Given the description of an element on the screen output the (x, y) to click on. 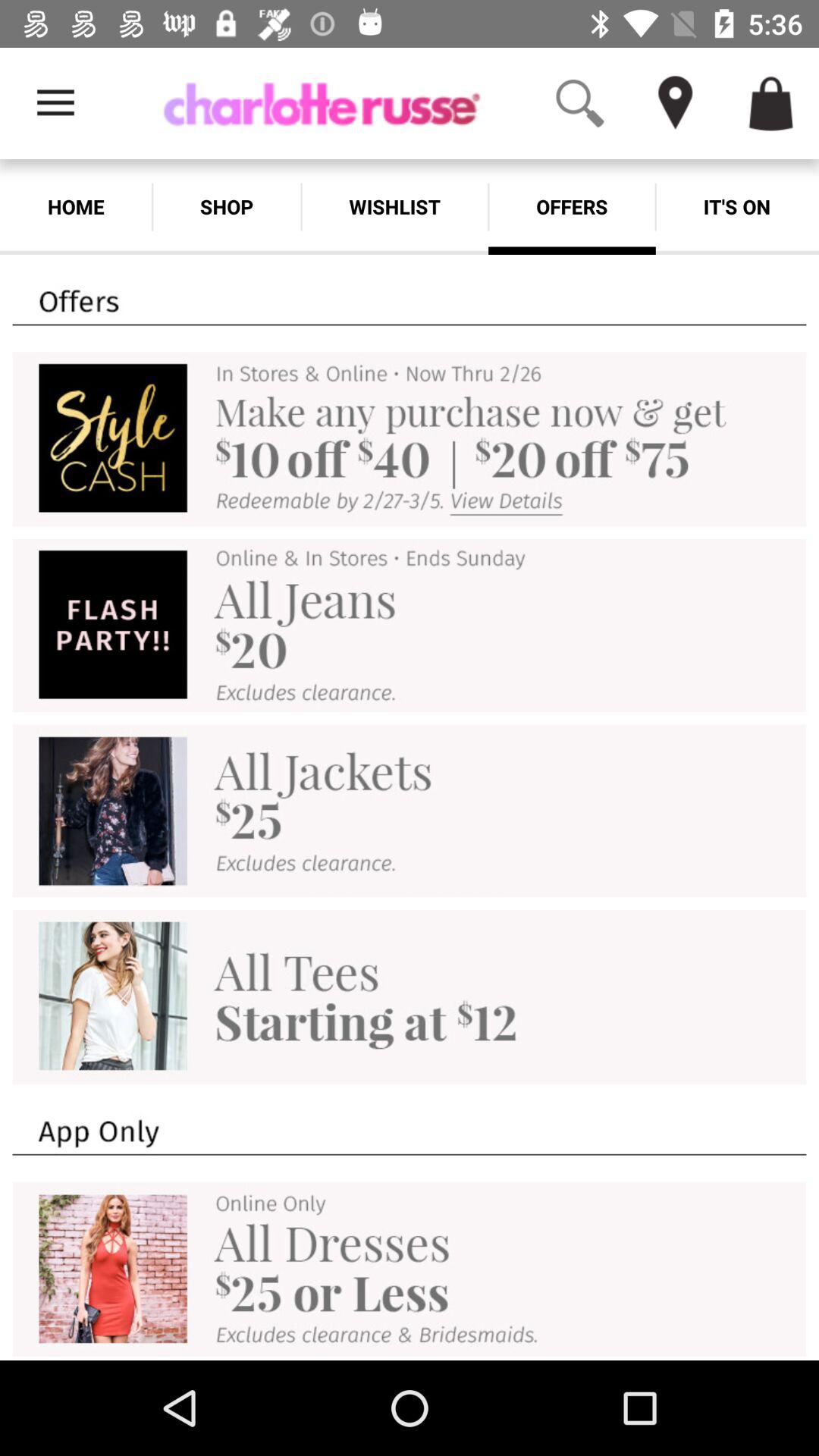
launch the shop item (226, 206)
